Given the description of an element on the screen output the (x, y) to click on. 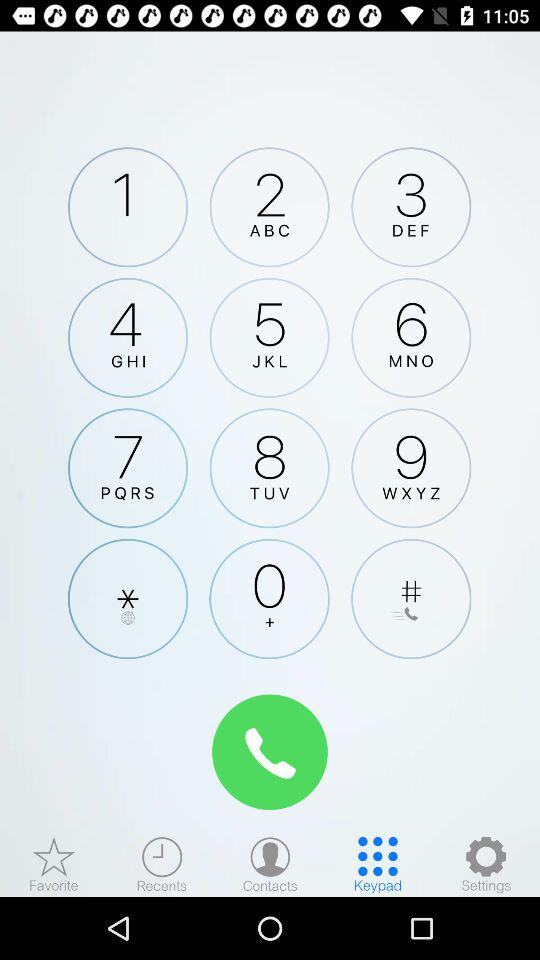
this is where your list of people you likely call the most is found (53, 864)
